Given the description of an element on the screen output the (x, y) to click on. 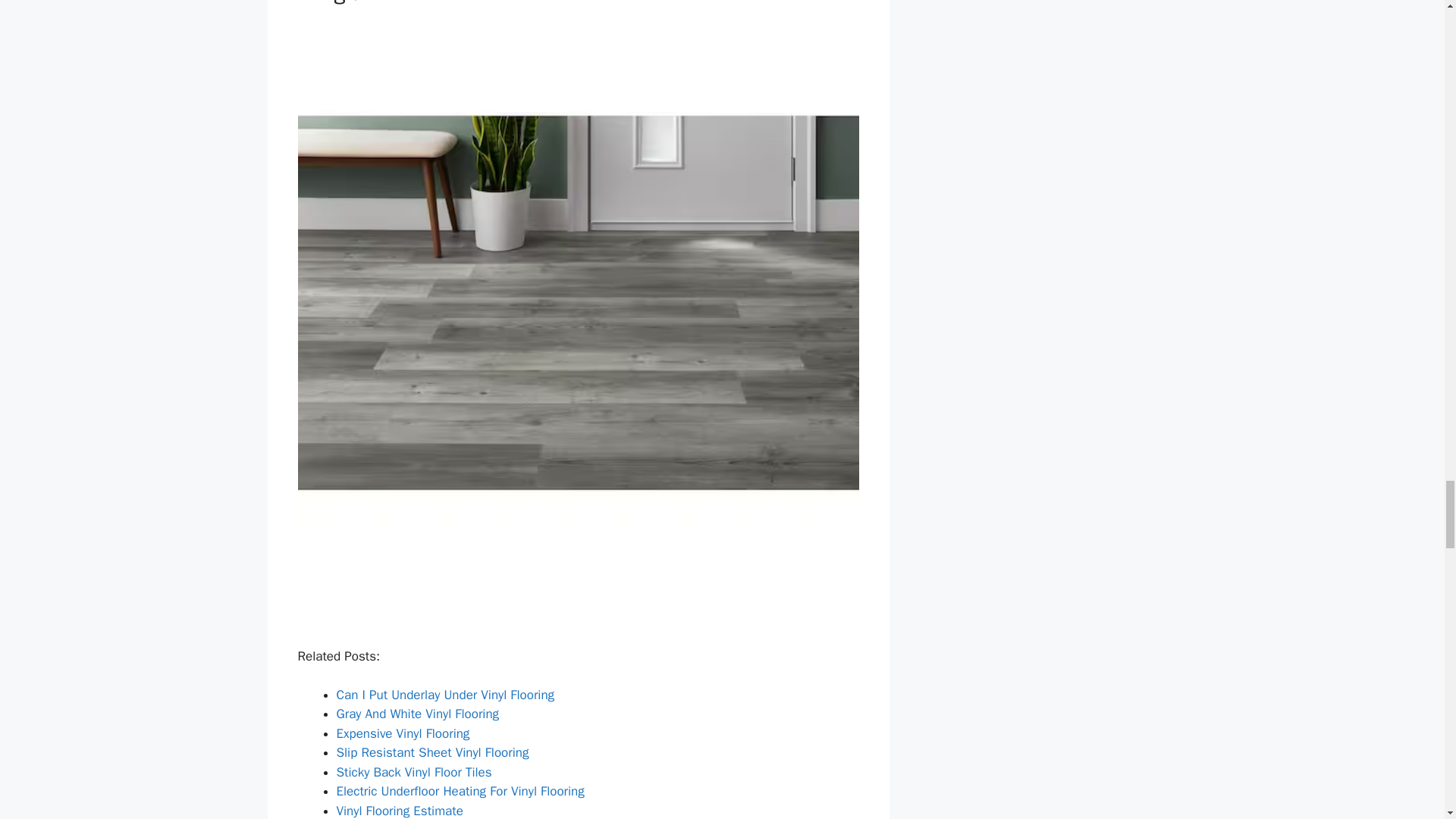
Can I Put Underlay Under Vinyl Flooring (445, 694)
Vinyl Flooring Estimate (399, 810)
Electric Underfloor Heating For Vinyl Flooring (460, 790)
Sticky Back Vinyl Floor Tiles (414, 772)
Expensive Vinyl Flooring (403, 732)
Slip Resistant Sheet Vinyl Flooring (432, 752)
Gray And White Vinyl Flooring (417, 713)
